Given the description of an element on the screen output the (x, y) to click on. 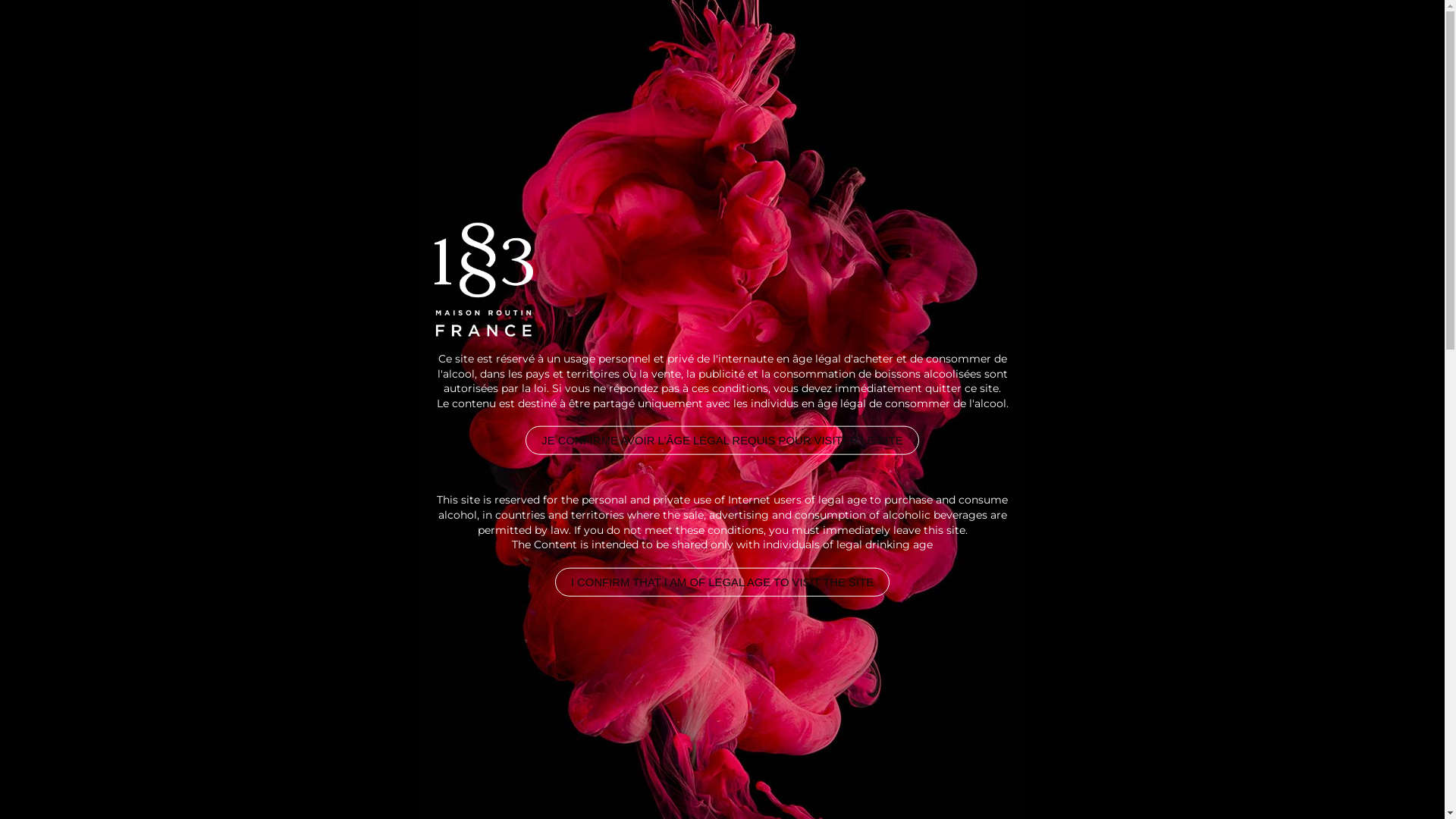
FR Element type: text (1279, 61)
WITH-ALCOOL Element type: text (263, 225)
TRENDS Element type: text (1180, 61)
EXCEPTIONAL SYRUPS Element type: text (653, 61)
COLLECTIONS Element type: text (819, 61)
COLD Element type: text (334, 225)
EN Element type: text (1251, 61)
THE 1883 SIGNATURE Element type: text (460, 61)
SHORT DRINK Element type: text (404, 225)
RECIPES Element type: text (934, 61)
Cookie settings Element type: text (1314, 787)
DRINK DESIGN Element type: text (296, 61)
I CONFIRM THAT I AM OF LEGAL AGE TO VISIT THE SITE Element type: text (722, 581)
ACCEPT Element type: text (1388, 787)
MAISON ROUTIN Element type: text (1058, 61)
